Given the description of an element on the screen output the (x, y) to click on. 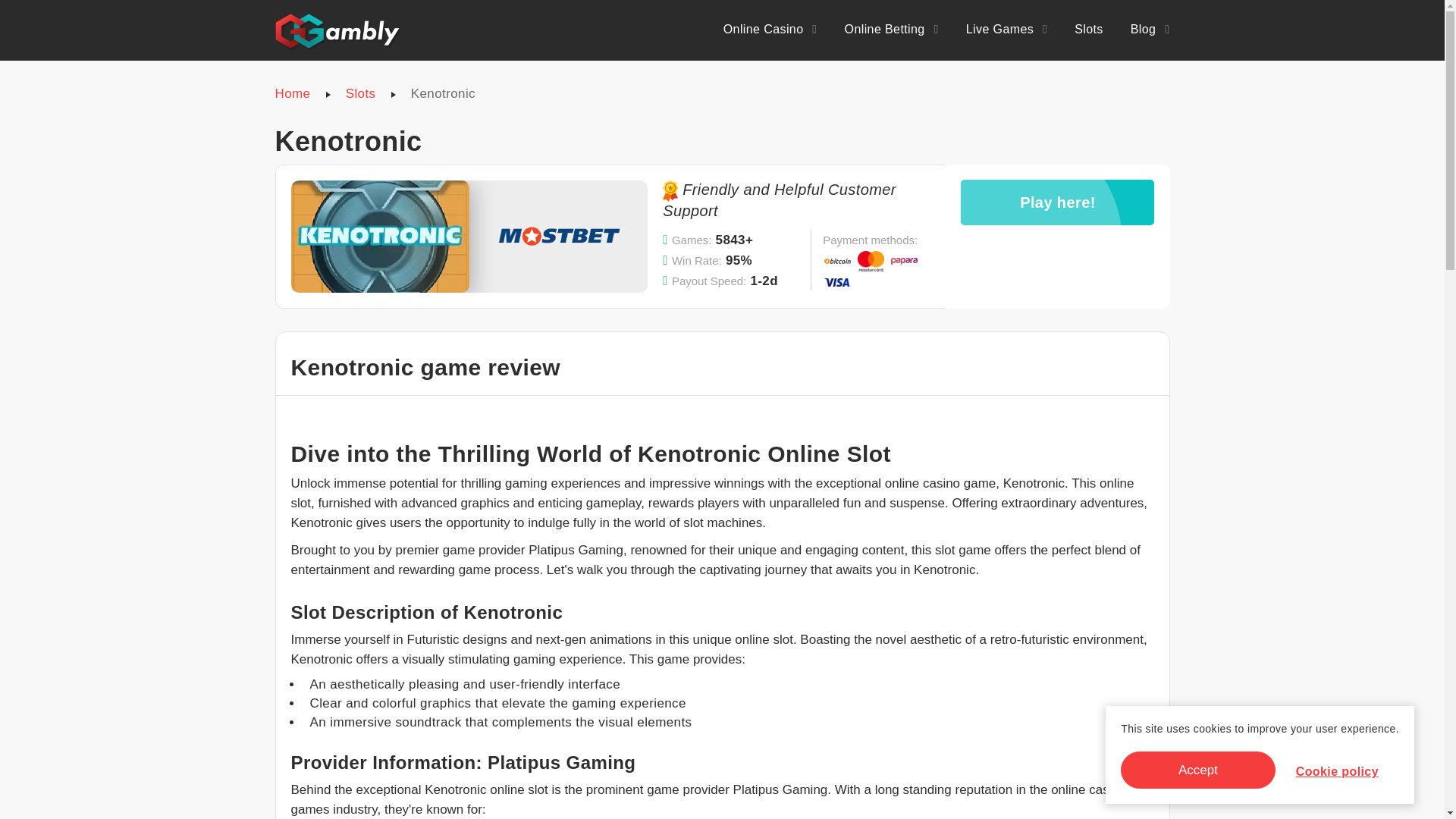
Slots (1088, 29)
Online Betting (891, 29)
Bitcoin (837, 260)
VISA (837, 282)
Accept (1198, 769)
Online Casino (769, 29)
Cookie policy (1336, 771)
Live Games (1006, 29)
Blog (1149, 29)
Papara (904, 261)
